Given the description of an element on the screen output the (x, y) to click on. 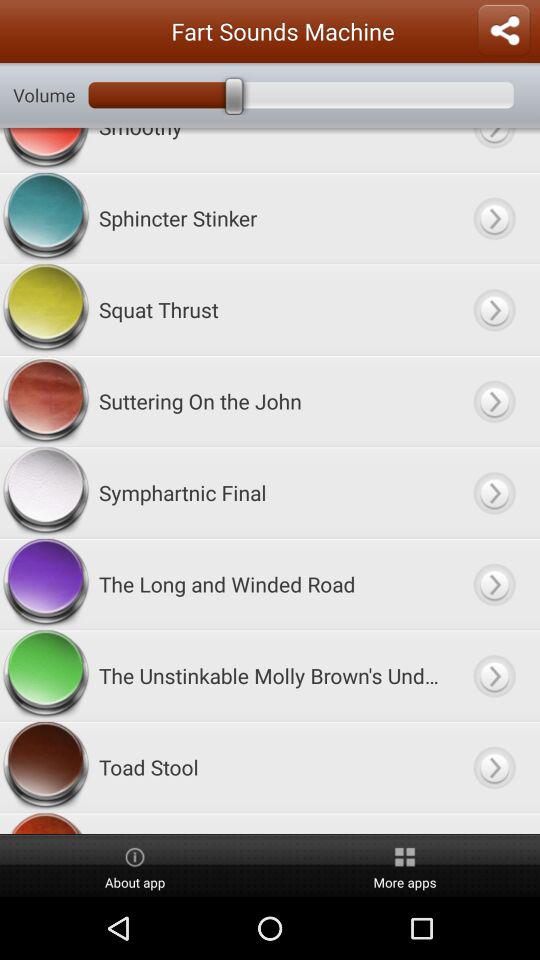
select sphincter stinker (494, 218)
